Given the description of an element on the screen output the (x, y) to click on. 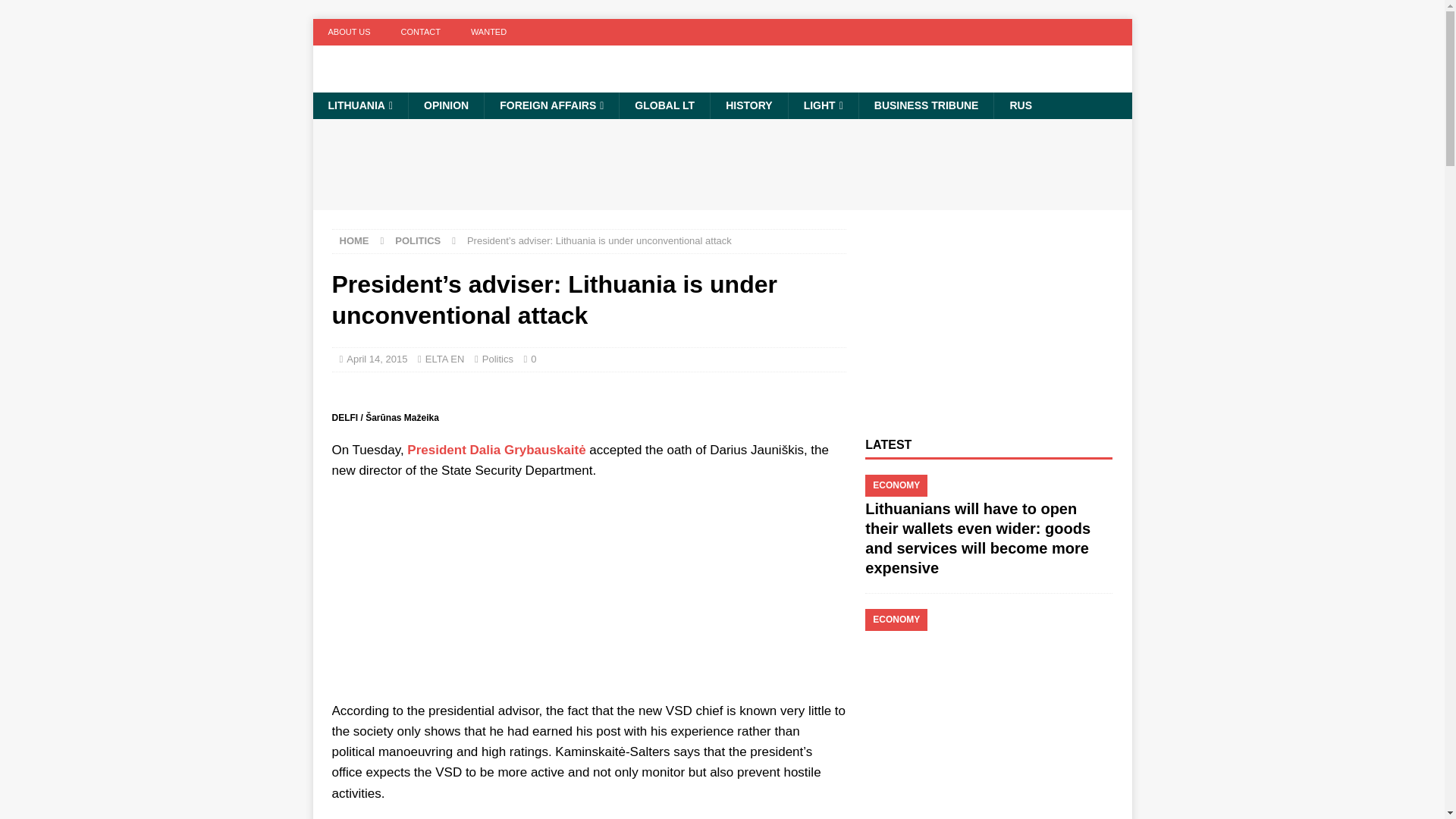
CONTACT (420, 31)
LITHUANIA (360, 104)
ABOUT US (349, 31)
WANTED (488, 31)
